Given the description of an element on the screen output the (x, y) to click on. 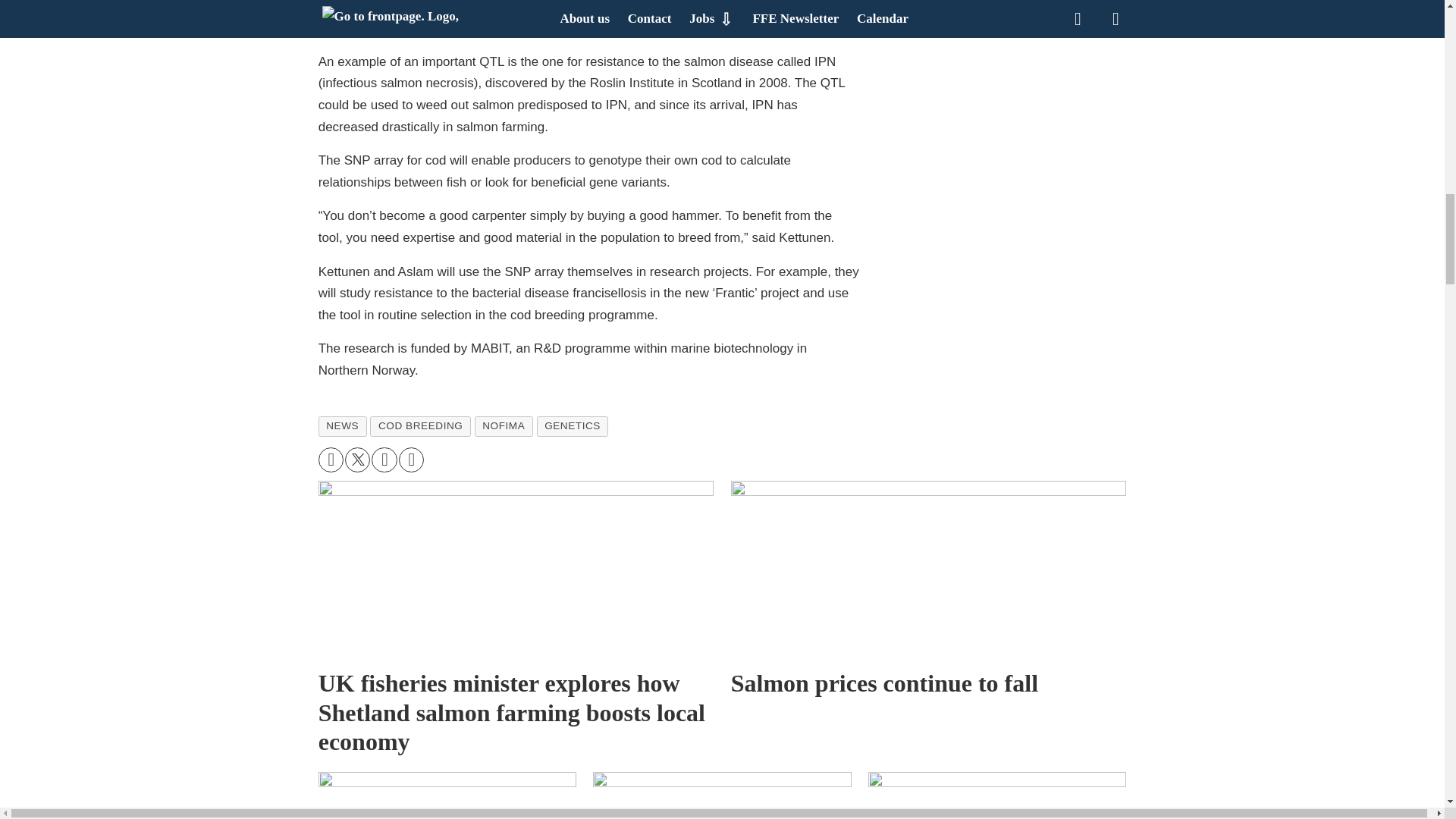
COD BREEDING (419, 425)
Farmed salmon escape during delousing (447, 795)
Salmon prices continue to fall (928, 570)
GENETICS (572, 425)
NOFIMA (503, 425)
Salmon prices continue to fall (928, 591)
NEWS (342, 425)
